Given the description of an element on the screen output the (x, y) to click on. 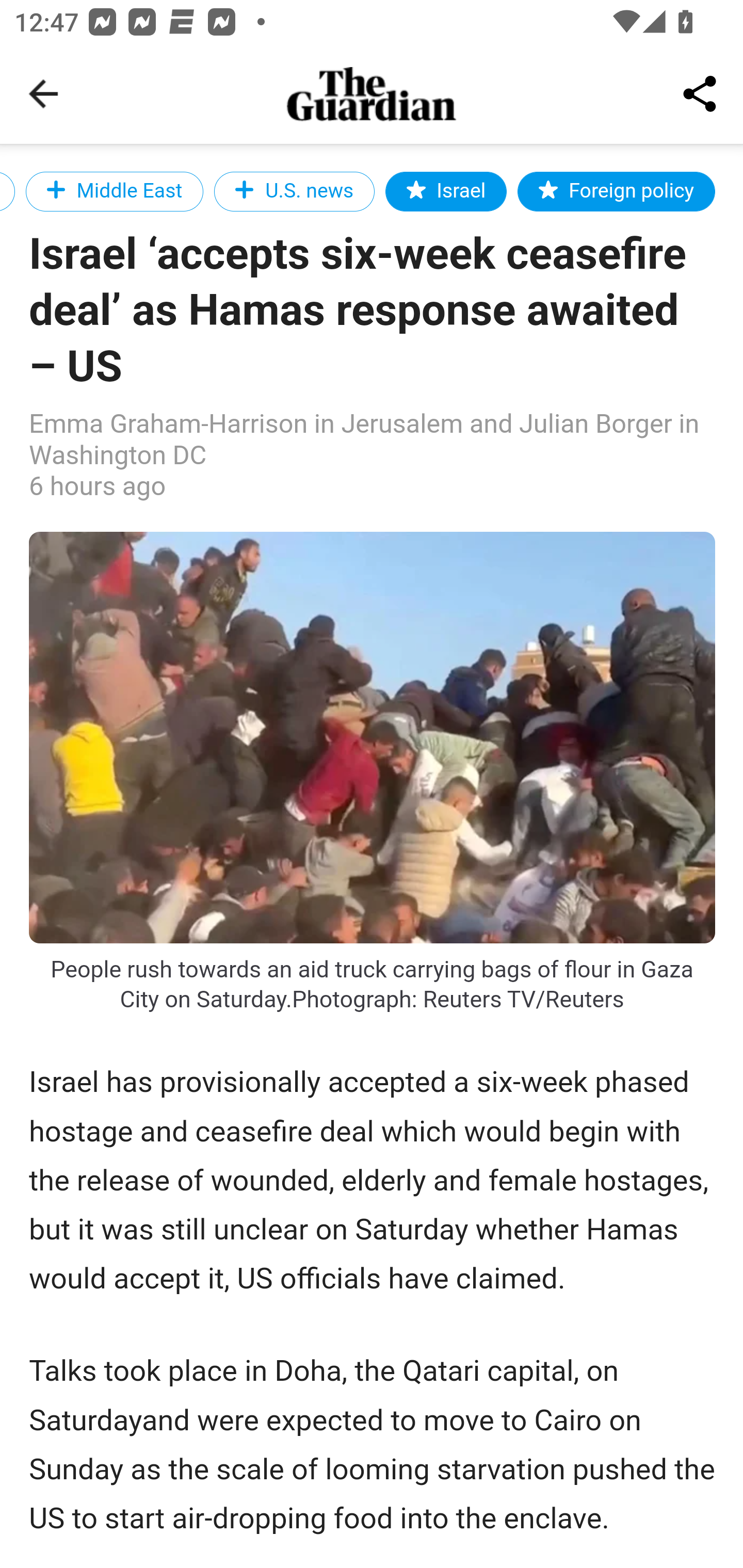
Middle East (114, 191)
U.S. news (294, 191)
Israel (445, 191)
Foreign policy (616, 191)
